Given the description of an element on the screen output the (x, y) to click on. 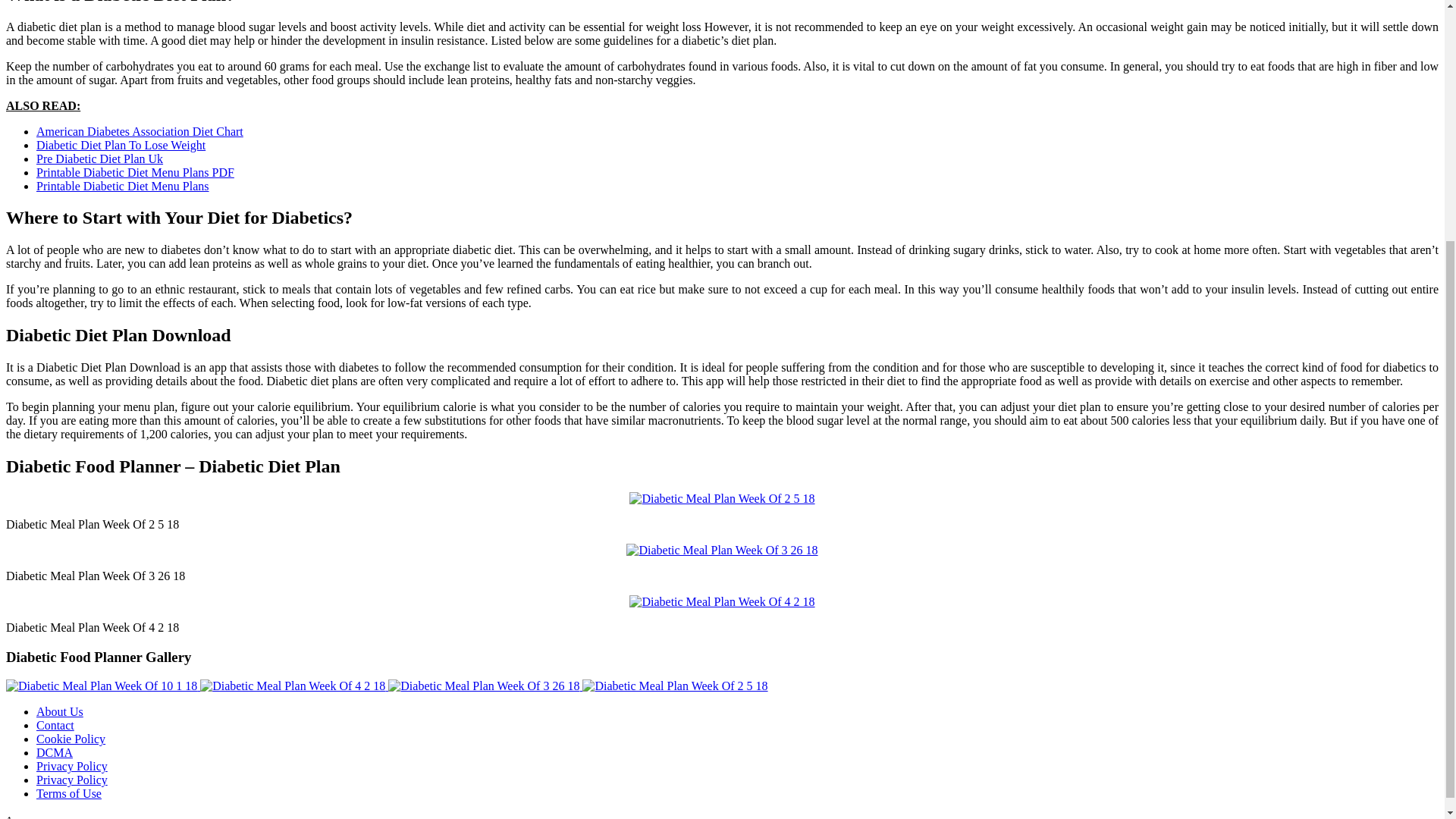
Diabetic Meal Plan Week Of 10 1 18 (102, 685)
Cookie Policy (70, 738)
diabetic meal plan week of 4 2 18 4 (720, 602)
Terms of Use (68, 793)
Printable Diabetic Diet Menu Plans (122, 185)
Privacy Policy (71, 766)
Diabetic Meal Plan Week Of 4 2 18 (294, 685)
American Diabetes Association Diet Chart (139, 130)
Printable Diabetic Diet Menu Plans PDF (135, 171)
DCMA (54, 752)
Diabetic Meal Plan Week Of 4 2 18 (292, 685)
Pre Diabetic Diet Plan Uk (99, 157)
diabetic meal plan week of 3 26 18 10 (721, 550)
Diabetic Meal Plan Week Of 10 1 18 (100, 685)
Diabetic Diet Plan To Lose Weight (120, 144)
